Given the description of an element on the screen output the (x, y) to click on. 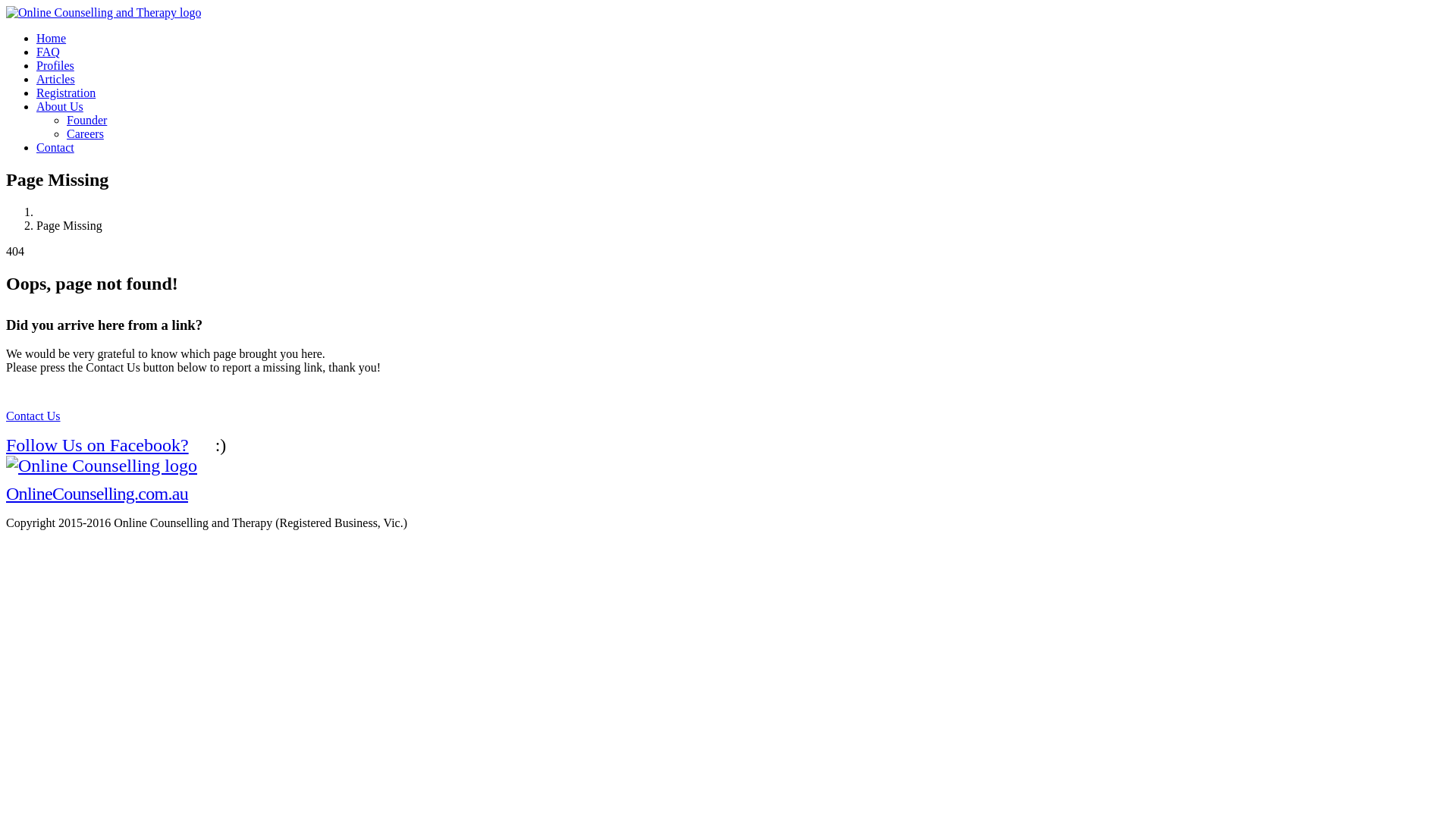
Home Element type: text (50, 37)
Contact Element type: text (55, 147)
Registration Element type: text (65, 92)
OnlineCounselling.com.au Element type: text (101, 479)
Articles Element type: text (55, 78)
About Us Element type: text (59, 106)
FAQ Element type: text (47, 51)
Careers Element type: text (84, 133)
Founder Element type: text (86, 119)
Follow Us on Facebook? Element type: text (104, 445)
Contact Us Element type: text (33, 415)
Profiles Element type: text (55, 65)
